Given the description of an element on the screen output the (x, y) to click on. 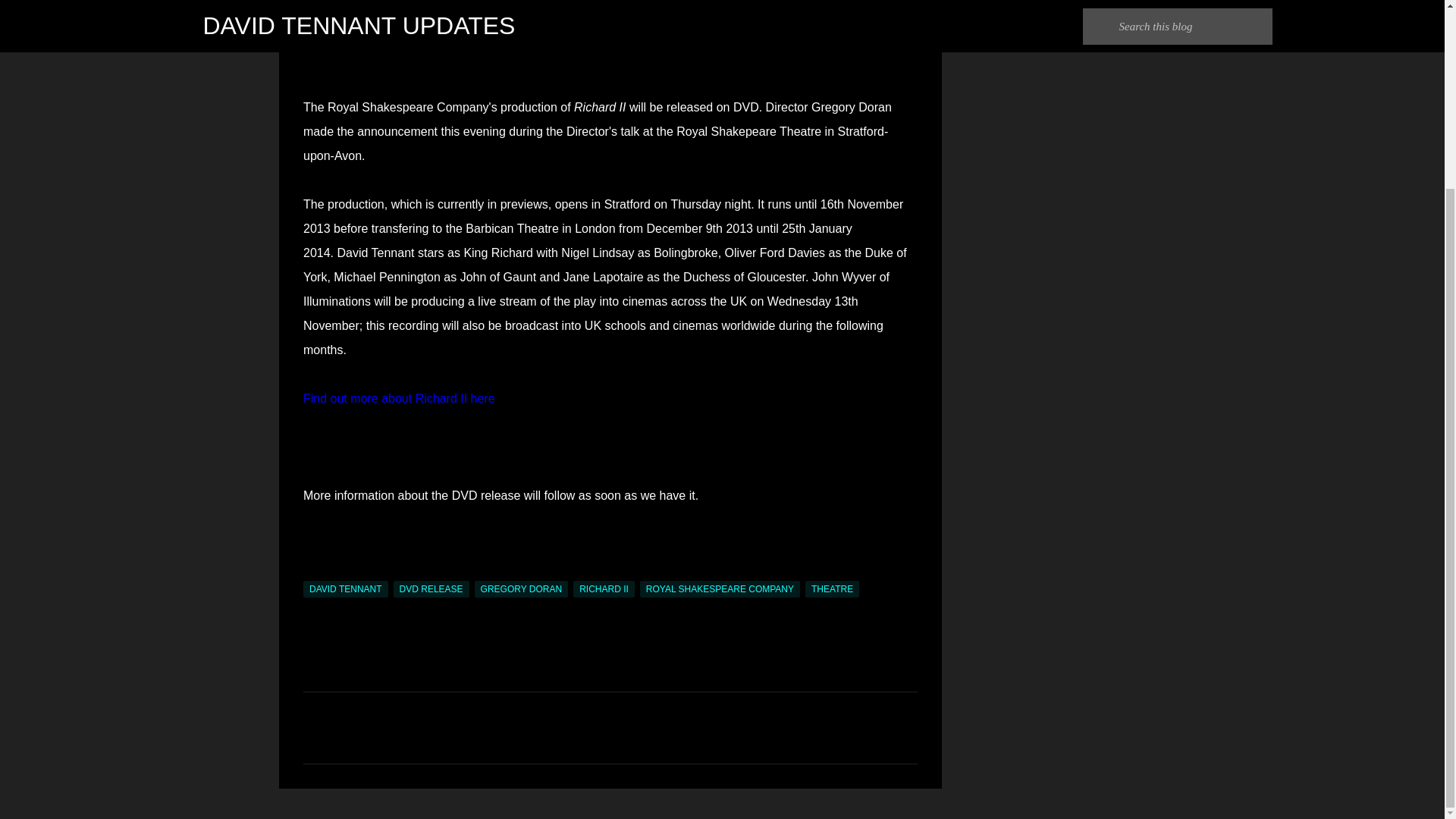
Email Post (311, 571)
THEATRE (832, 588)
ROYAL SHAKESPEARE COMPANY (719, 588)
DAVID TENNANT (345, 588)
RICHARD II (603, 588)
GREGORY DORAN (521, 588)
DVD RELEASE (430, 588)
Find out more about Richard II here (398, 398)
